Given the description of an element on the screen output the (x, y) to click on. 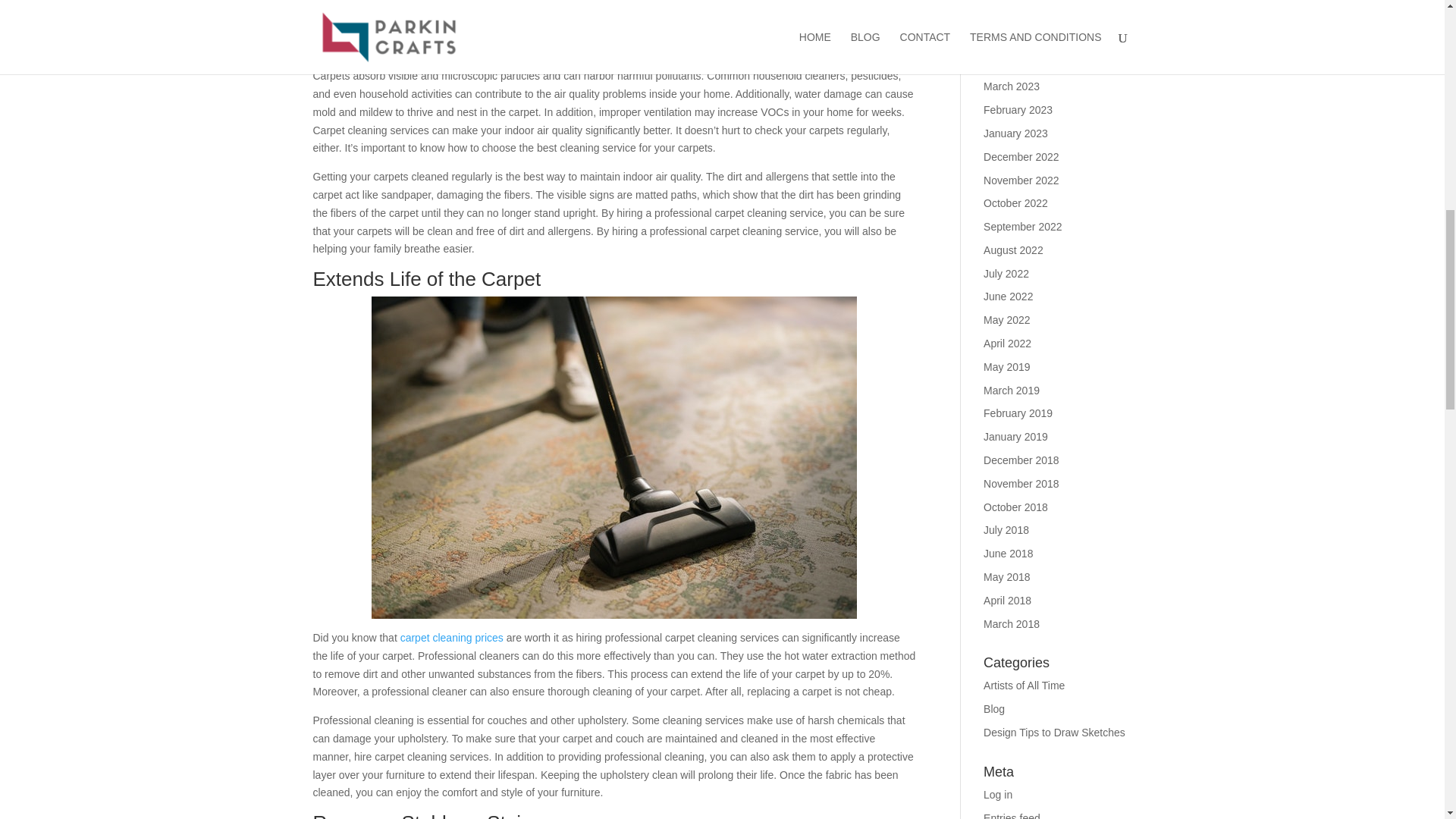
April 2023 (1007, 63)
May 2023 (1006, 39)
March 2023 (1011, 86)
June 2023 (1008, 16)
carpet cleaning prices (451, 637)
